Given the description of an element on the screen output the (x, y) to click on. 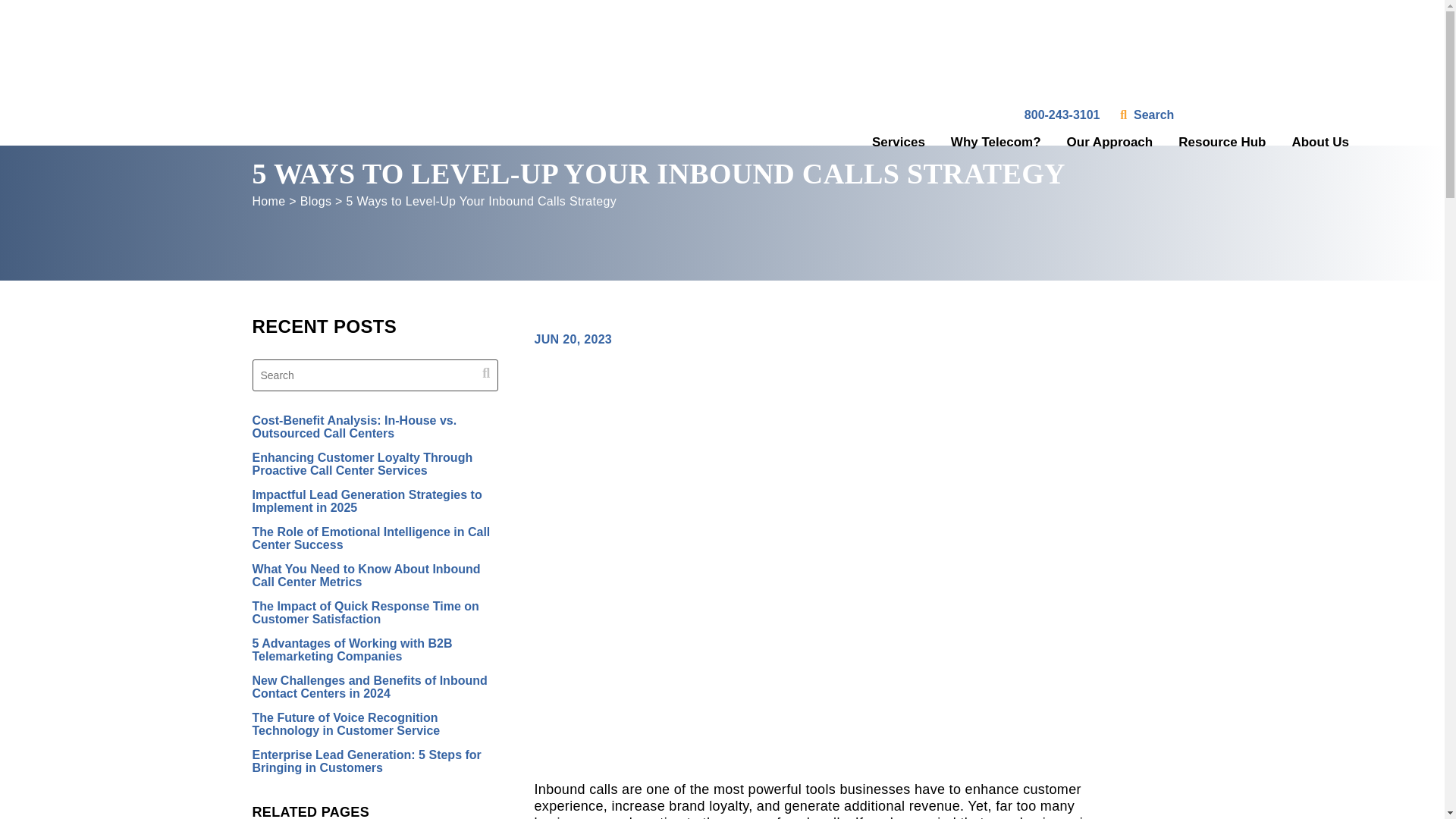
Search (1153, 114)
800-243-3101 (1062, 114)
Why Telecom? (995, 142)
Telecom, Inc. (125, 72)
Services (898, 142)
Our Approach (1110, 142)
